Given the description of an element on the screen output the (x, y) to click on. 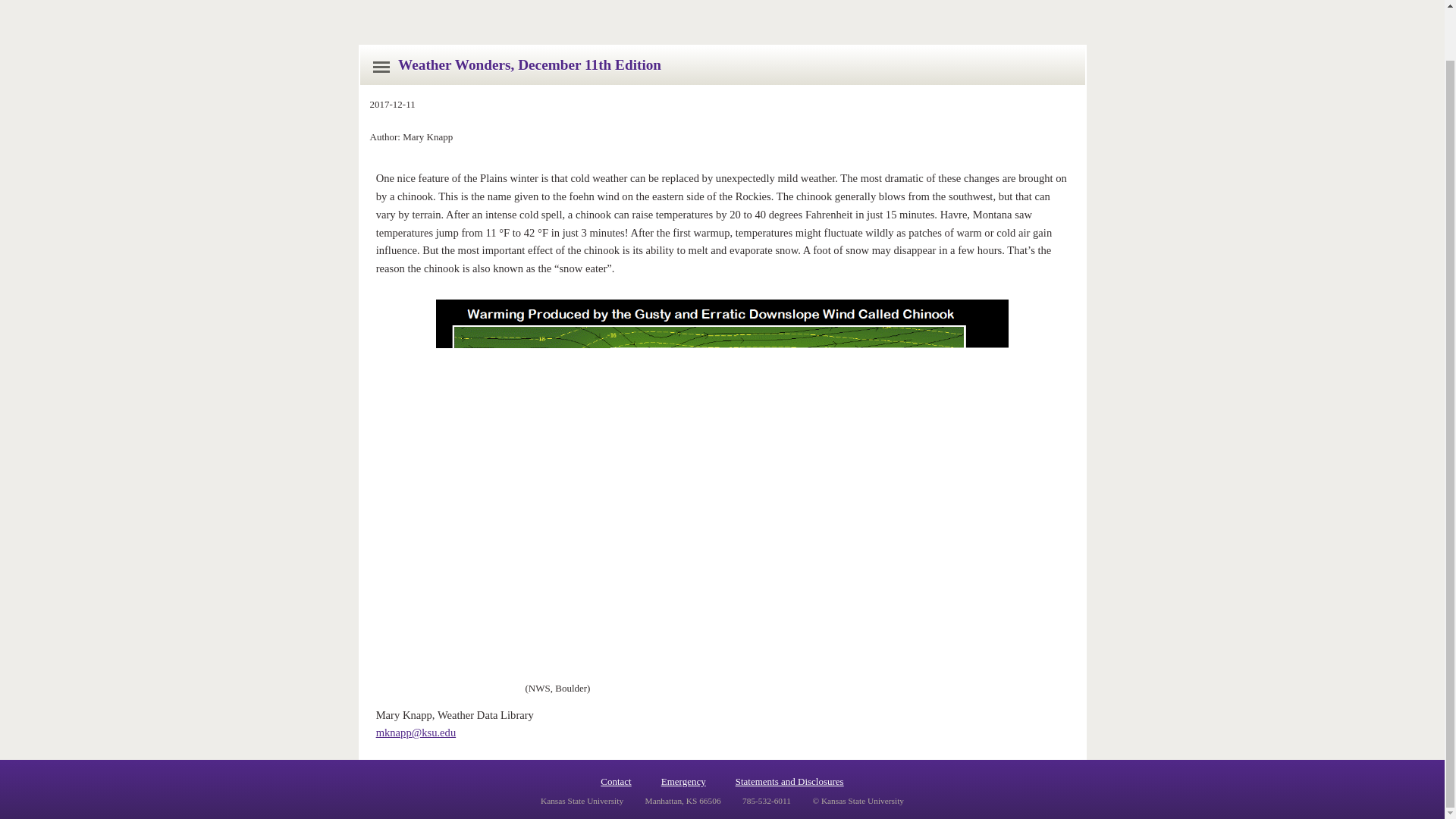
menu (381, 66)
Emergency (683, 781)
Statements and Disclosures (789, 781)
Contact (614, 781)
